Given the description of an element on the screen output the (x, y) to click on. 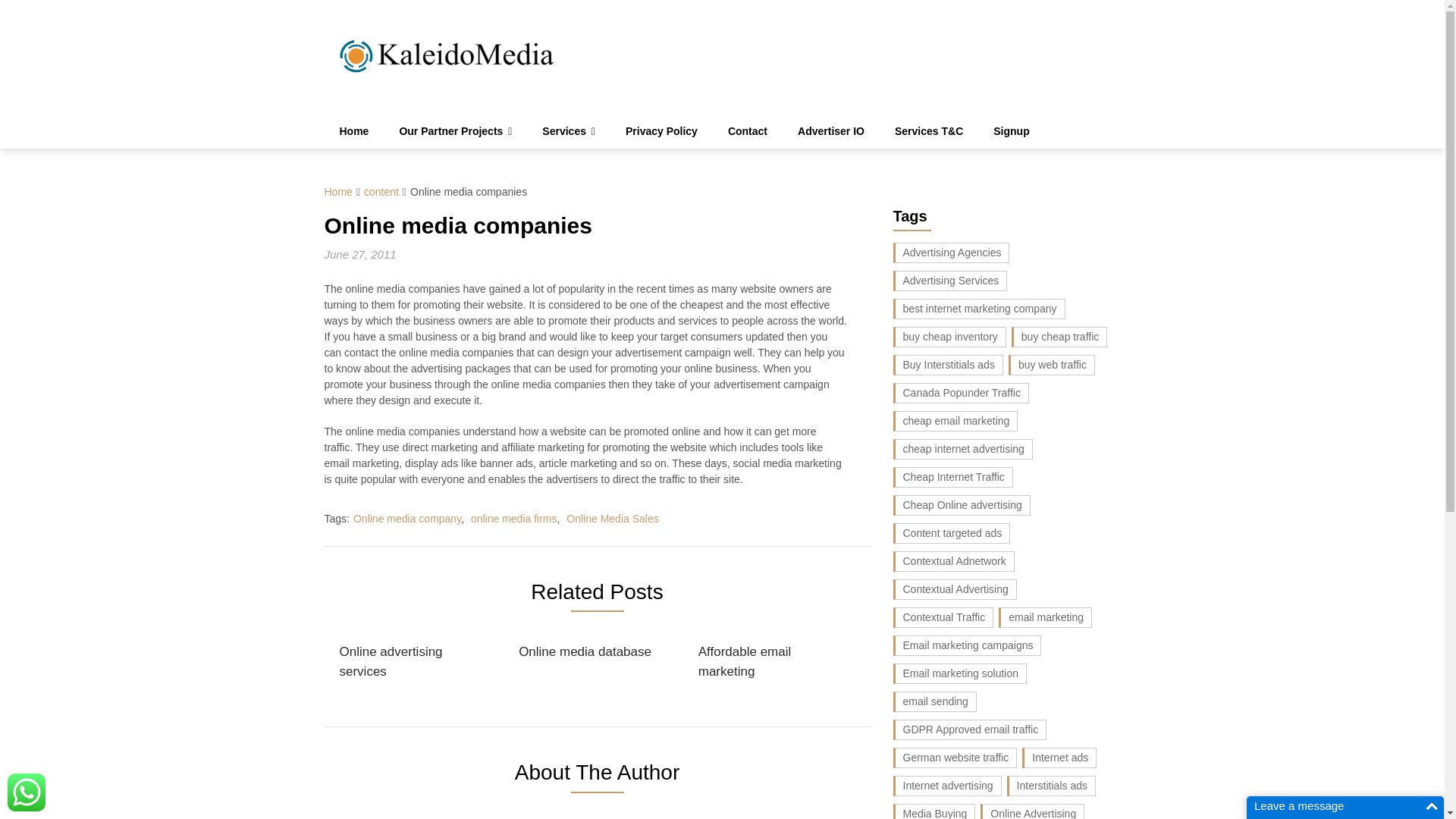
Online media database (584, 651)
Privacy Policy (661, 131)
best internet marketing company (979, 308)
Affordable email marketing (774, 661)
buy cheap inventory (949, 336)
content (381, 191)
Home (354, 131)
buy web traffic (1051, 364)
Canada Popunder Traffic (961, 393)
Buy Interstitials ads (948, 364)
